Given the description of an element on the screen output the (x, y) to click on. 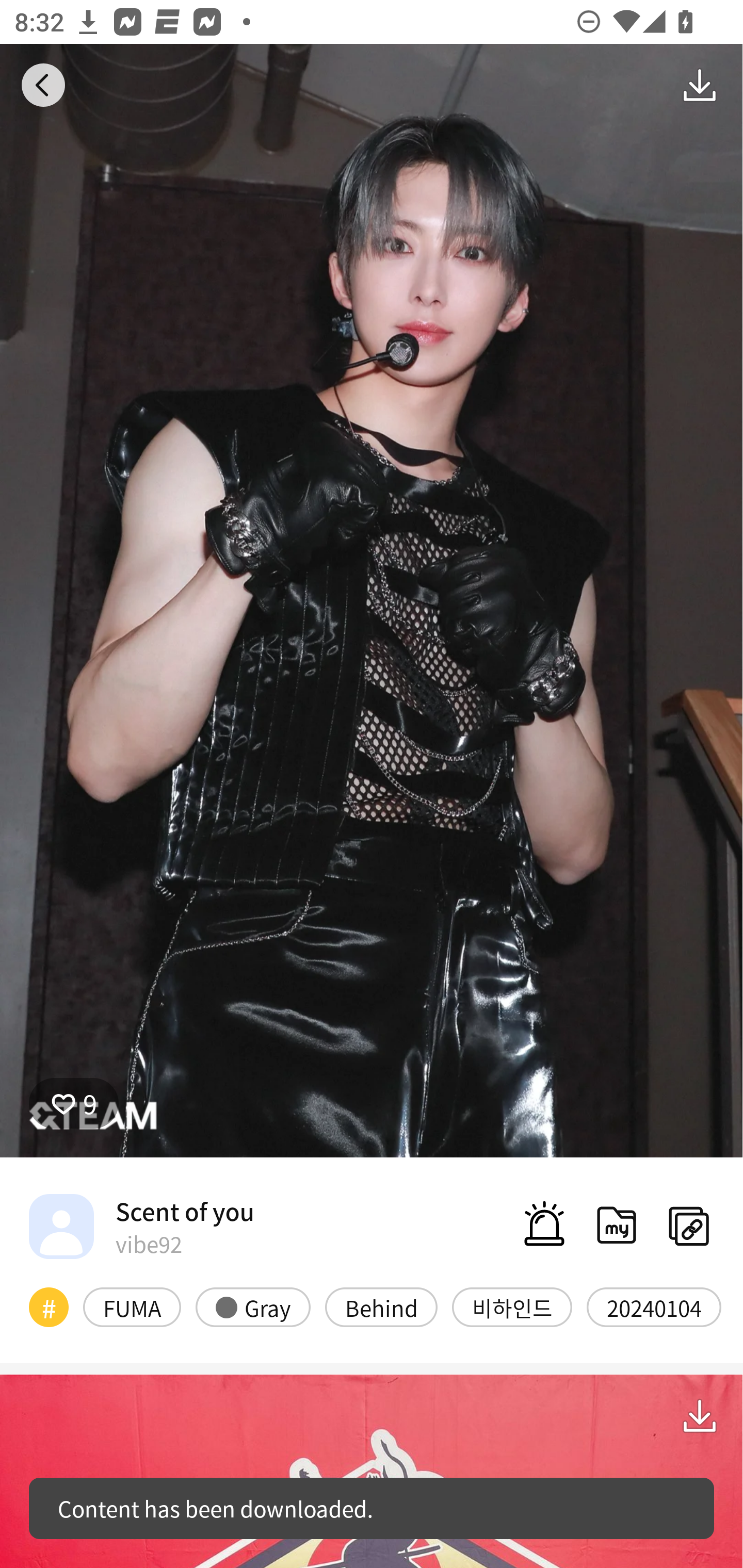
9 (73, 1102)
Scent of you vibe92 (141, 1226)
FUMA (132, 1306)
Gray (252, 1306)
Behind (381, 1306)
비하인드 (511, 1306)
20240104 (653, 1306)
